Given the description of an element on the screen output the (x, y) to click on. 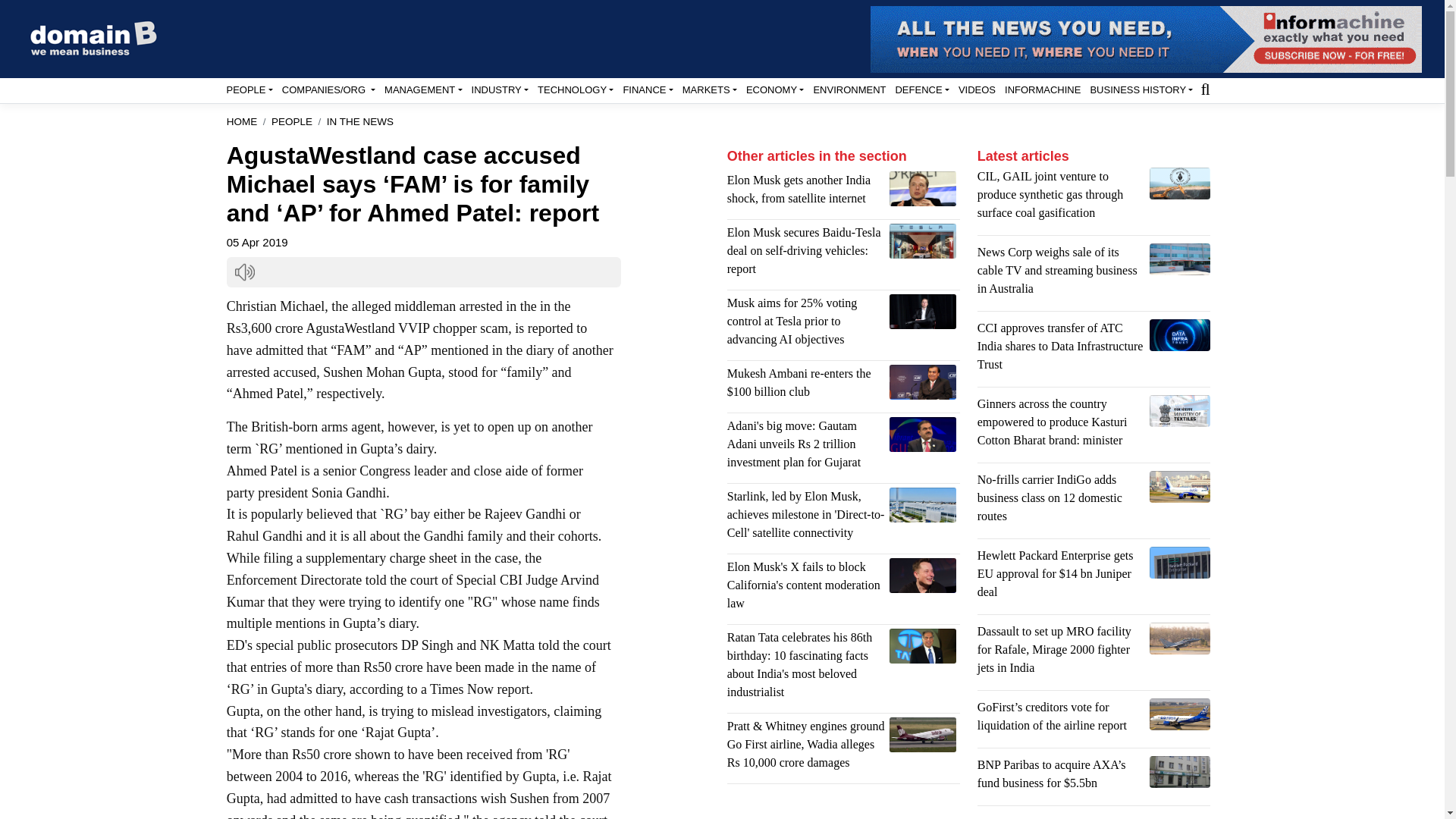
PEOPLE (248, 89)
Elon Musk gets another India shock, from satellite internet (922, 188)
Click here to listen (244, 271)
